Given the description of an element on the screen output the (x, y) to click on. 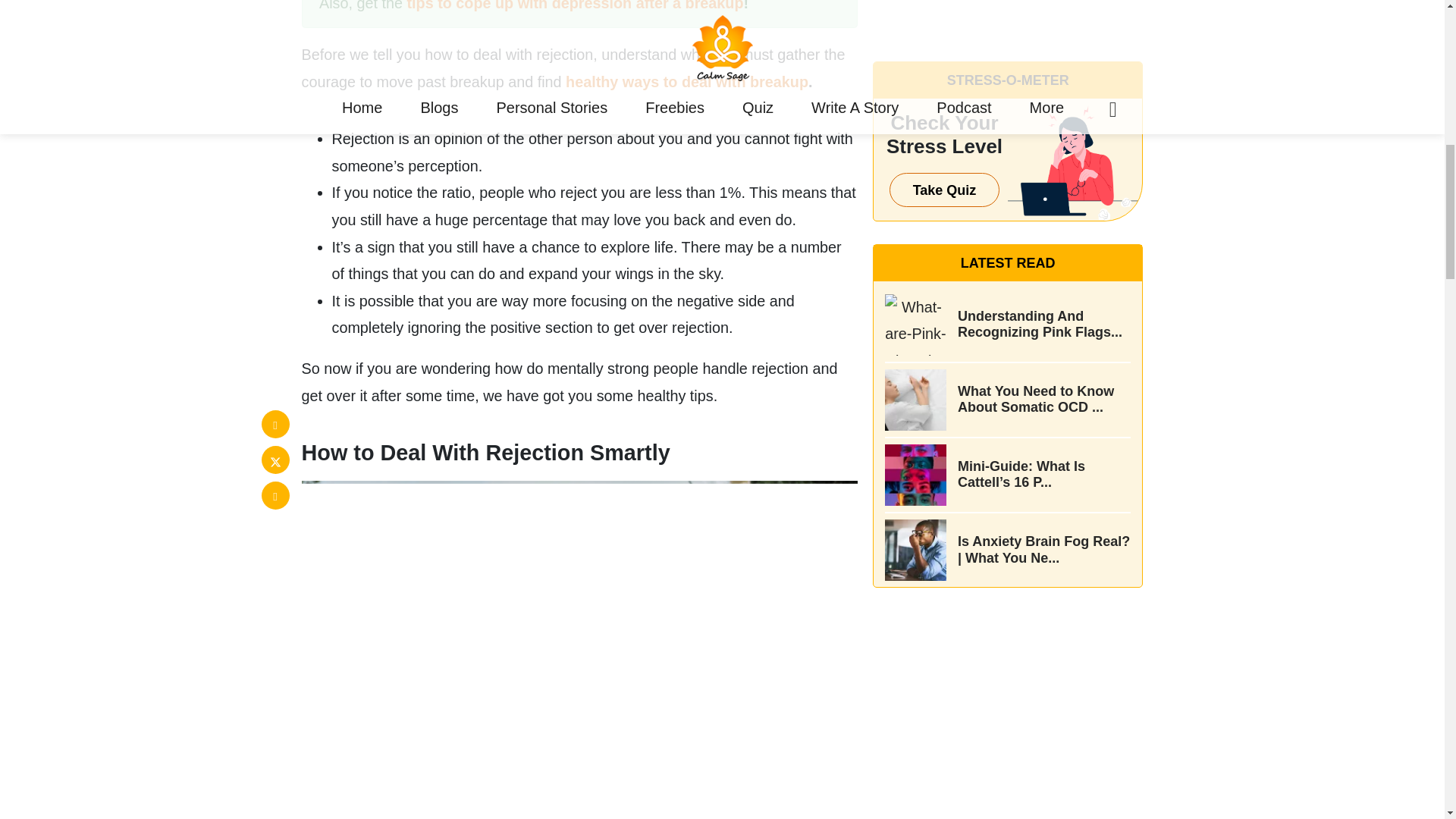
healthy ways to deal with breakup (687, 81)
tips to cope up with depression after a breakup (574, 5)
